Given the description of an element on the screen output the (x, y) to click on. 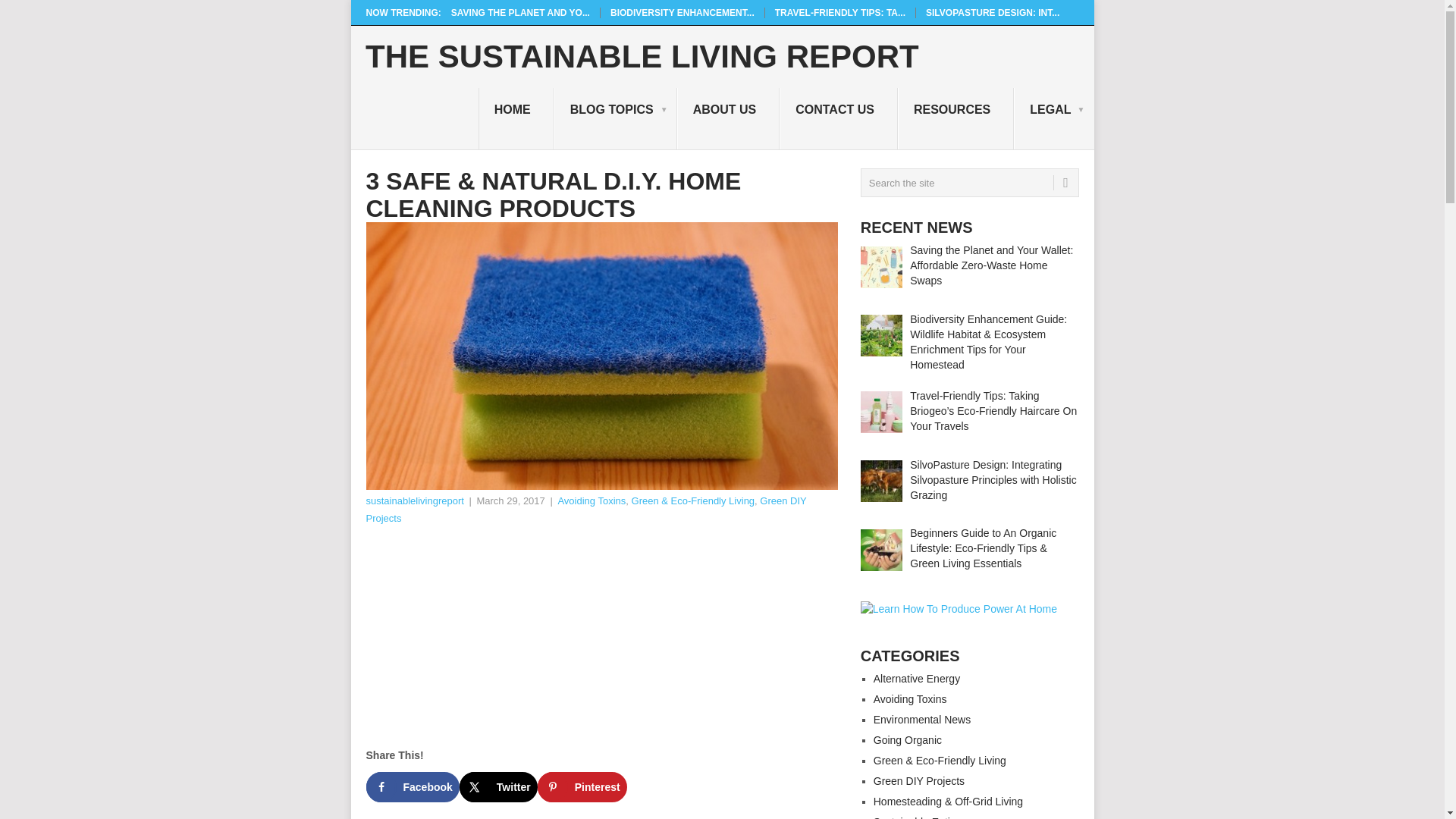
HOME (516, 118)
Share on X (498, 787)
CONTACT US (838, 118)
SILVOPASTURE DESIGN: INT... (992, 12)
Avoiding Toxins (591, 500)
Facebook (411, 787)
BIODIVERSITY ENHANCEMENT... (682, 12)
SAVING THE PLANET AND YO... (520, 12)
ABOUT US (728, 118)
sustainablelivingreport (414, 500)
Save to Pinterest (582, 787)
BLOG TOPICS (615, 118)
TRAVEL-FRIENDLY TIPS: TA... (839, 12)
LEGAL (1053, 118)
Green DIY Projects (585, 509)
